Given the description of an element on the screen output the (x, y) to click on. 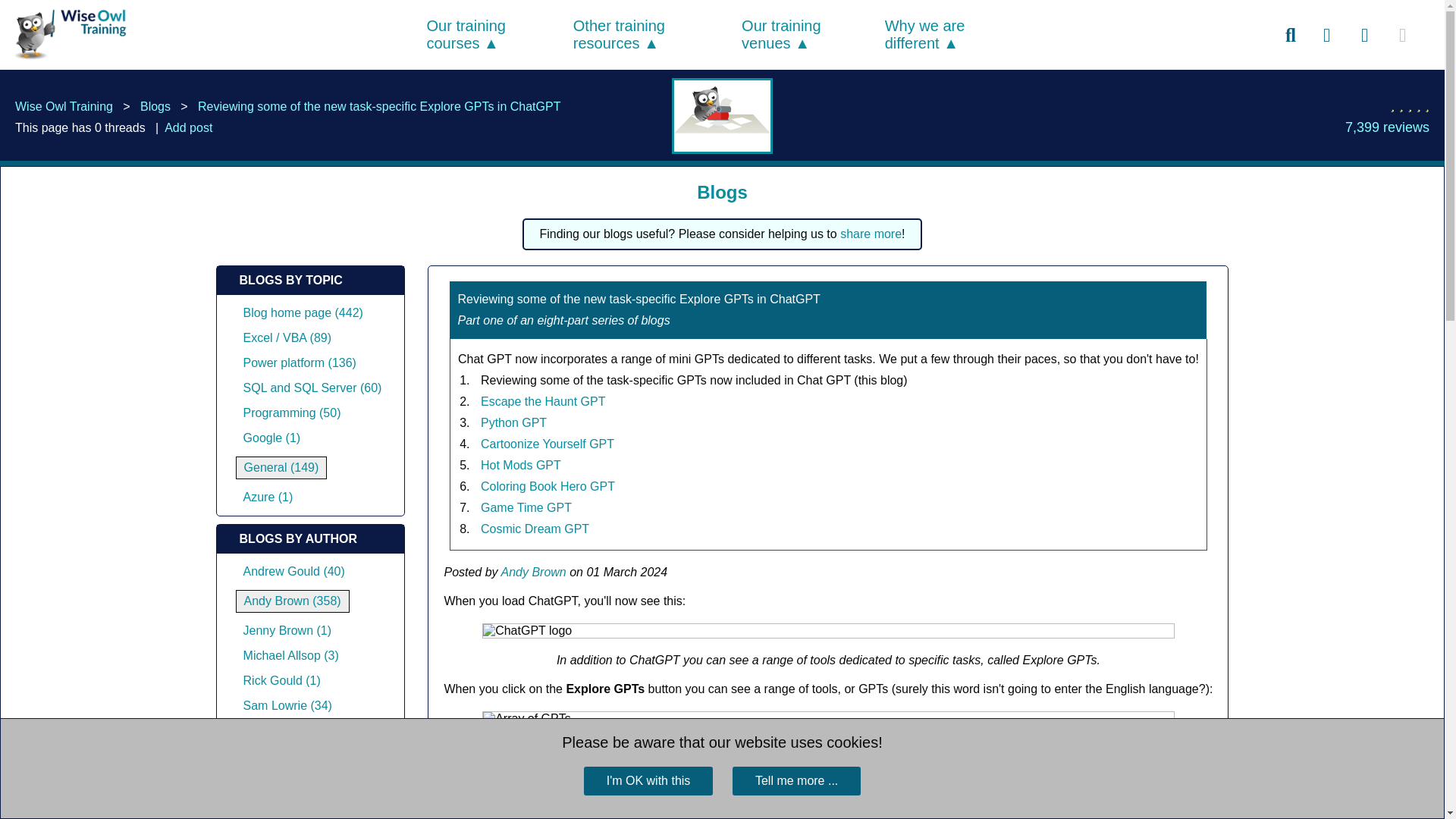
Wise Owl Training (65, 60)
Wise Owl Training (67, 34)
Our training courses (465, 34)
